Given the description of an element on the screen output the (x, y) to click on. 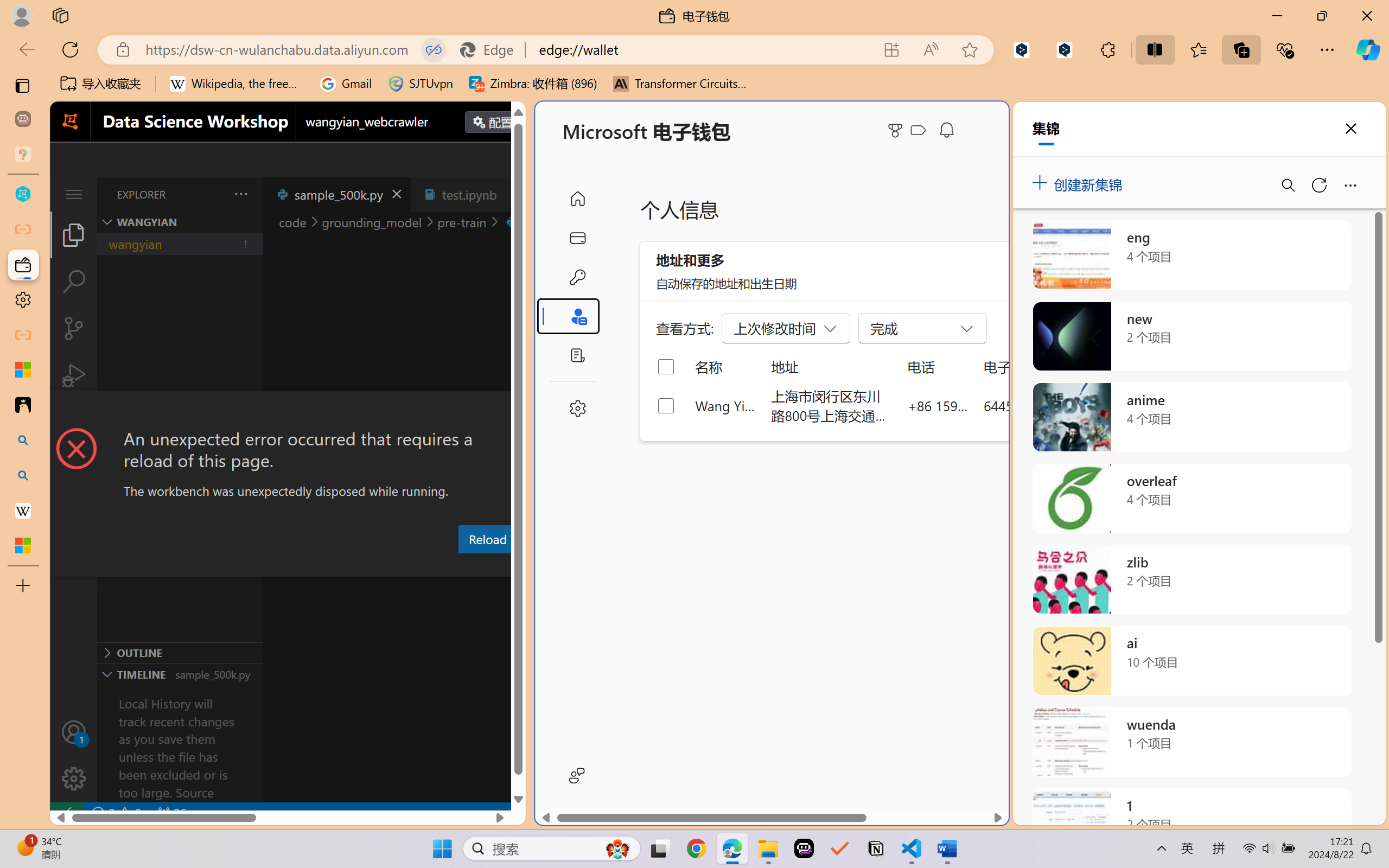
Copilot (Ctrl+Shift+.) (1368, 49)
Earth - Wikipedia (22, 510)
Microsoft Rewards (896, 129)
Class: ___1lmltc5 f1agt3bx f12qytpq (917, 130)
